Given the description of an element on the screen output the (x, y) to click on. 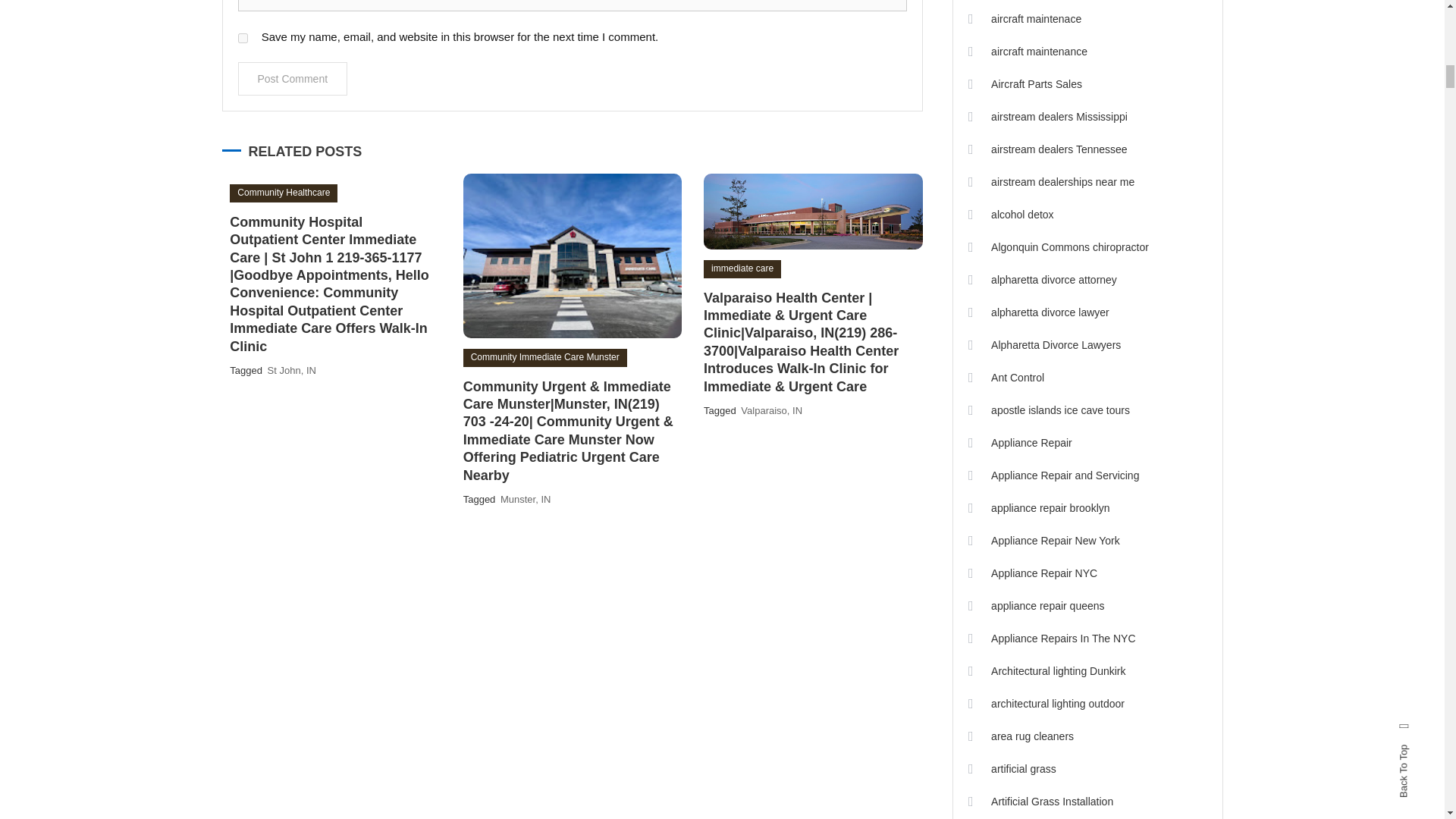
yes (242, 38)
Post Comment (292, 78)
